Given the description of an element on the screen output the (x, y) to click on. 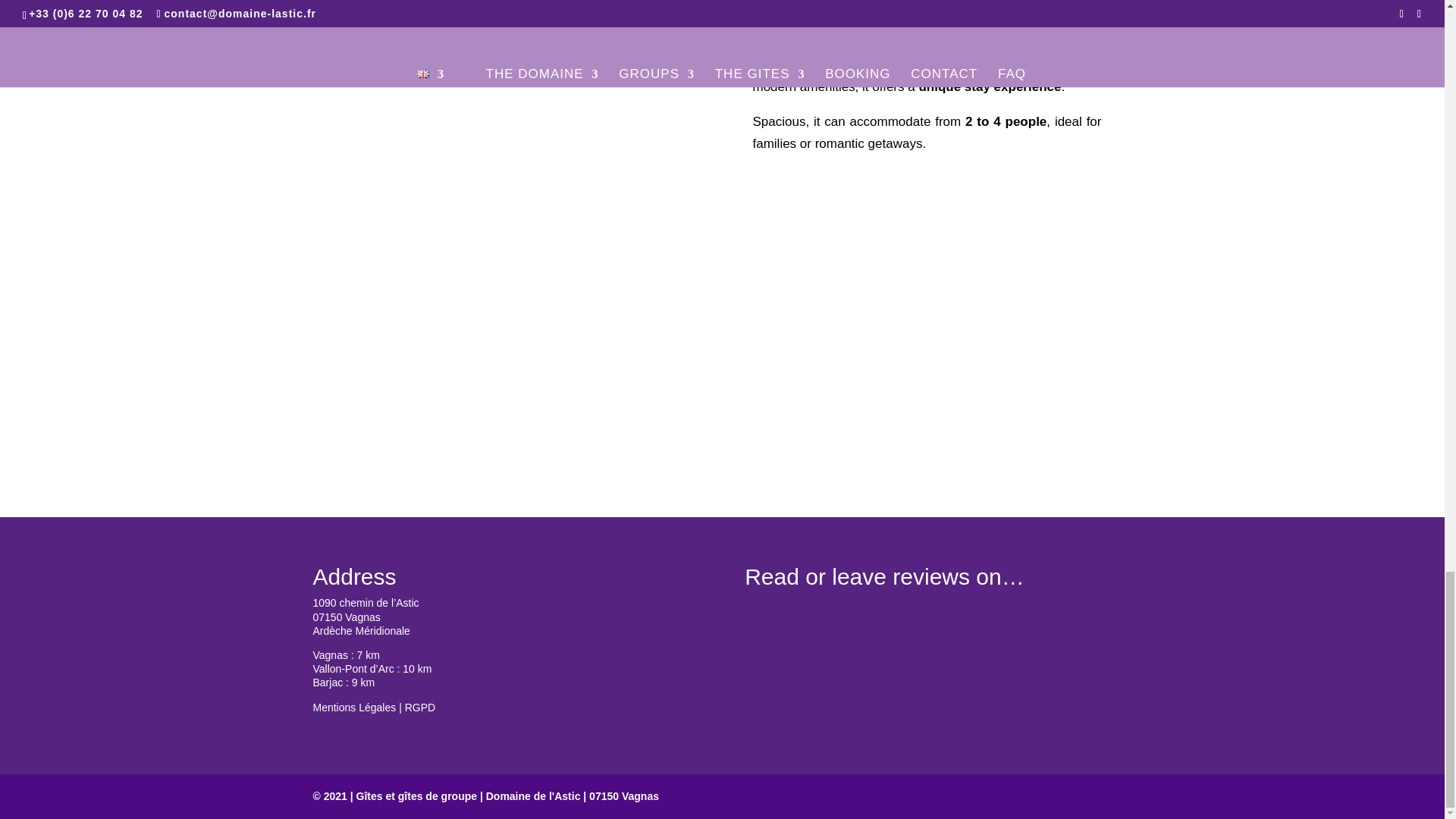
RGPD (419, 706)
